Given the description of an element on the screen output the (x, y) to click on. 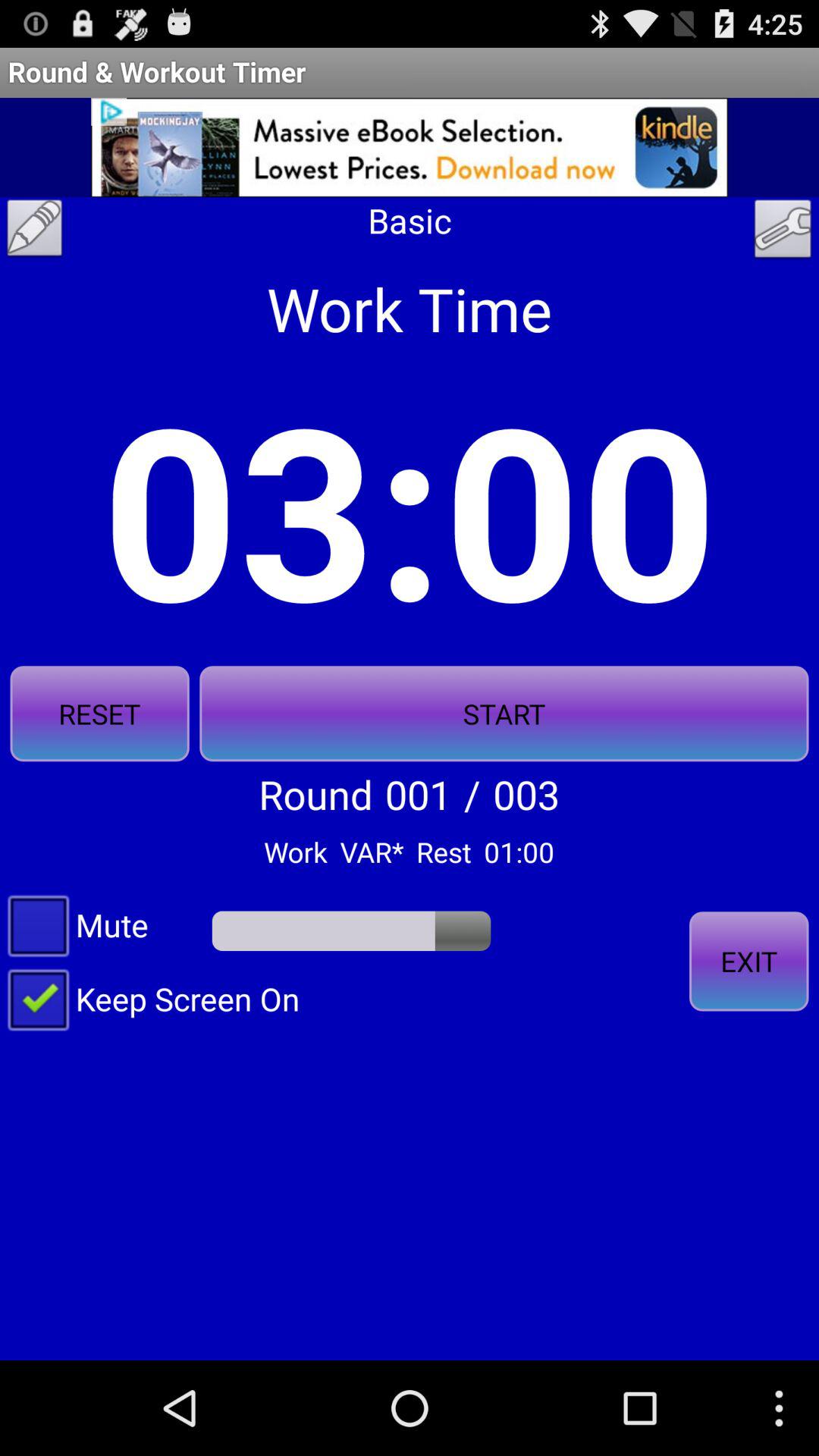
scroll to mute  icon (78, 924)
